Given the description of an element on the screen output the (x, y) to click on. 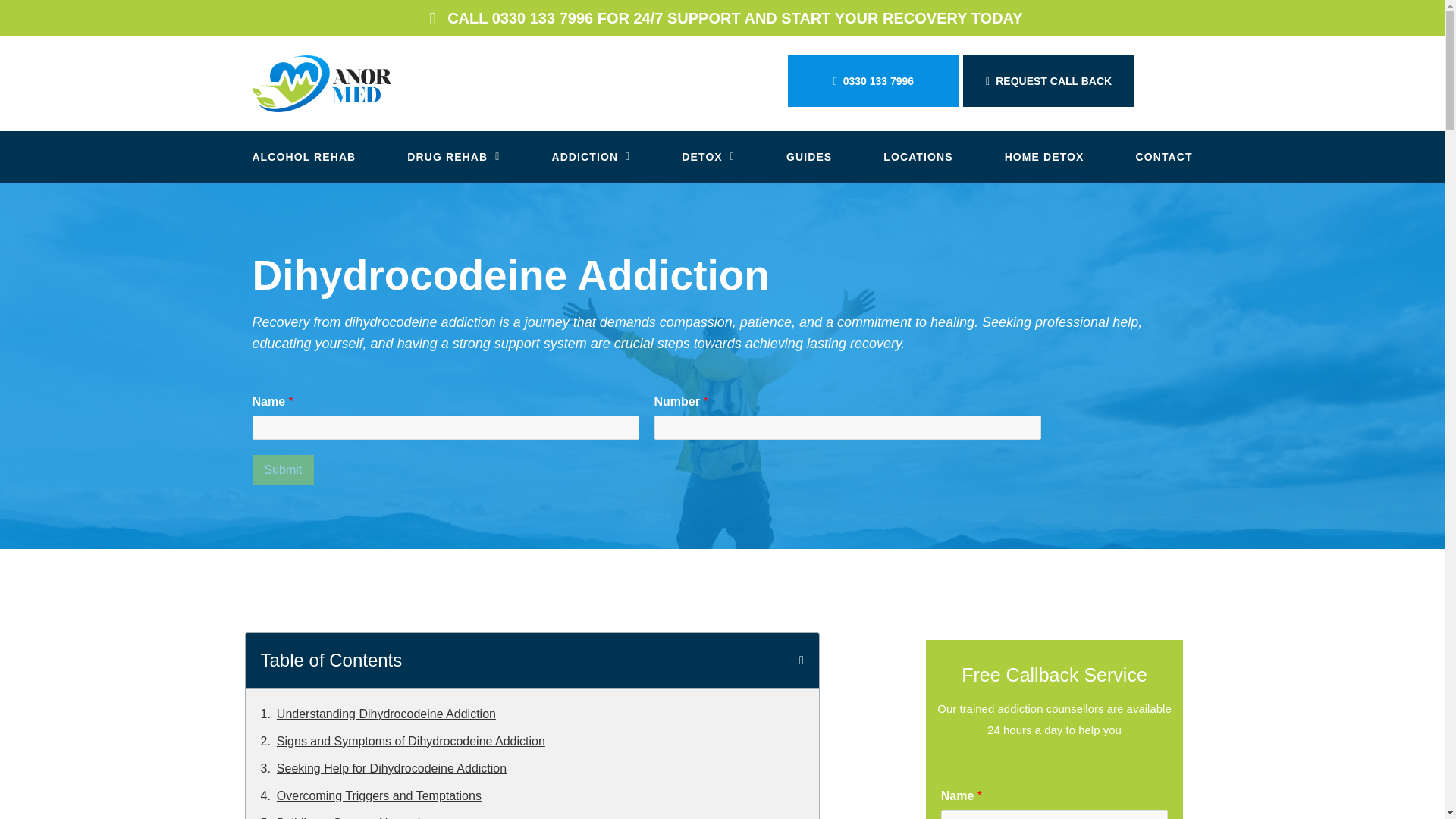
HOME DETOX (1043, 156)
0330 133 7996 (873, 81)
DETOX (708, 156)
CONTACT (1163, 156)
GUIDES (808, 156)
ALCOHOL REHAB (303, 156)
ADDICTION (590, 156)
REQUEST CALL BACK (1048, 81)
DRUG REHAB (453, 156)
LOCATIONS (917, 156)
